Given the description of an element on the screen output the (x, y) to click on. 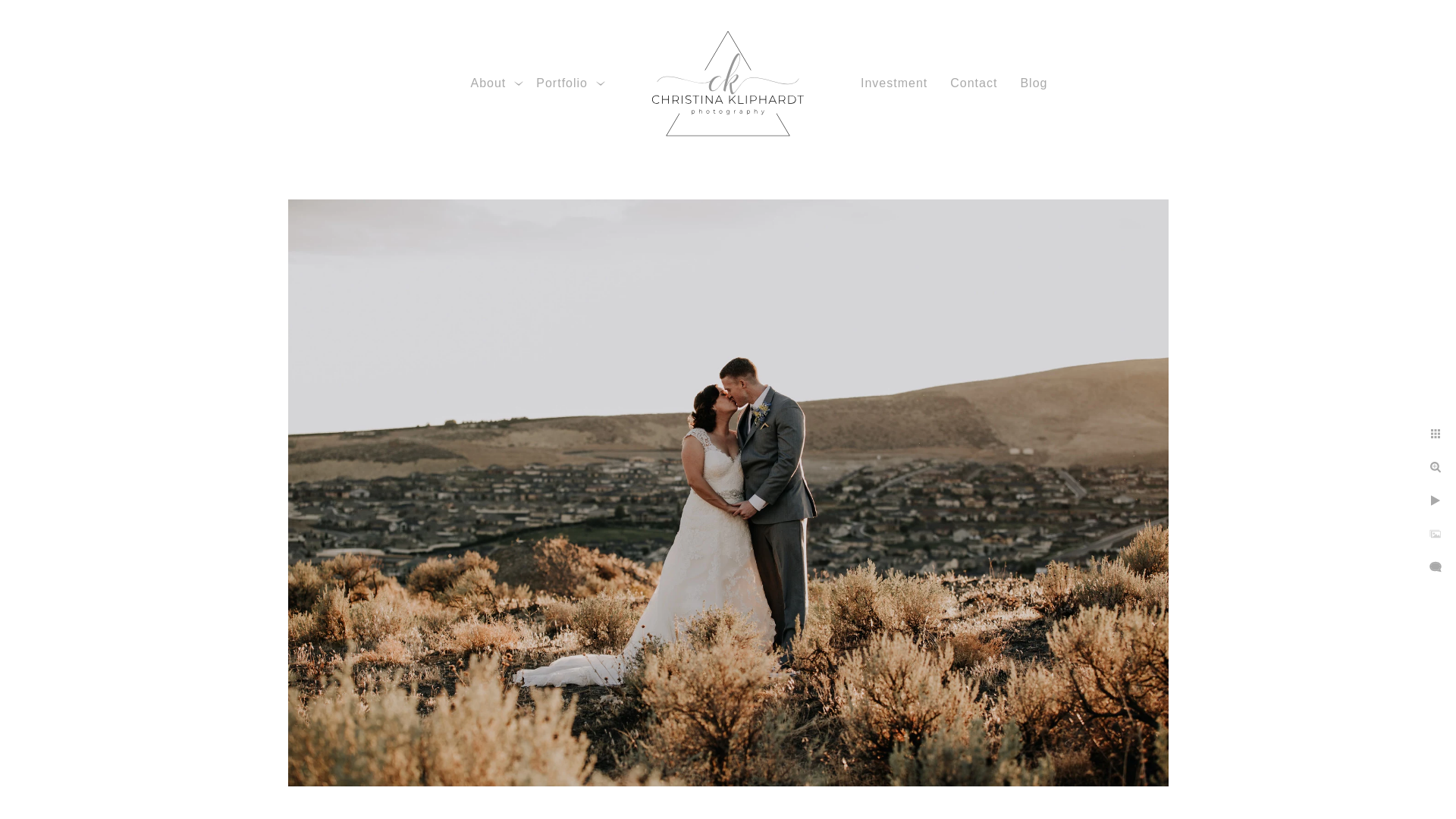
Contact (973, 82)
Portfolio (561, 82)
Blog (1033, 82)
Investment (893, 82)
About (487, 82)
